Given the description of an element on the screen output the (x, y) to click on. 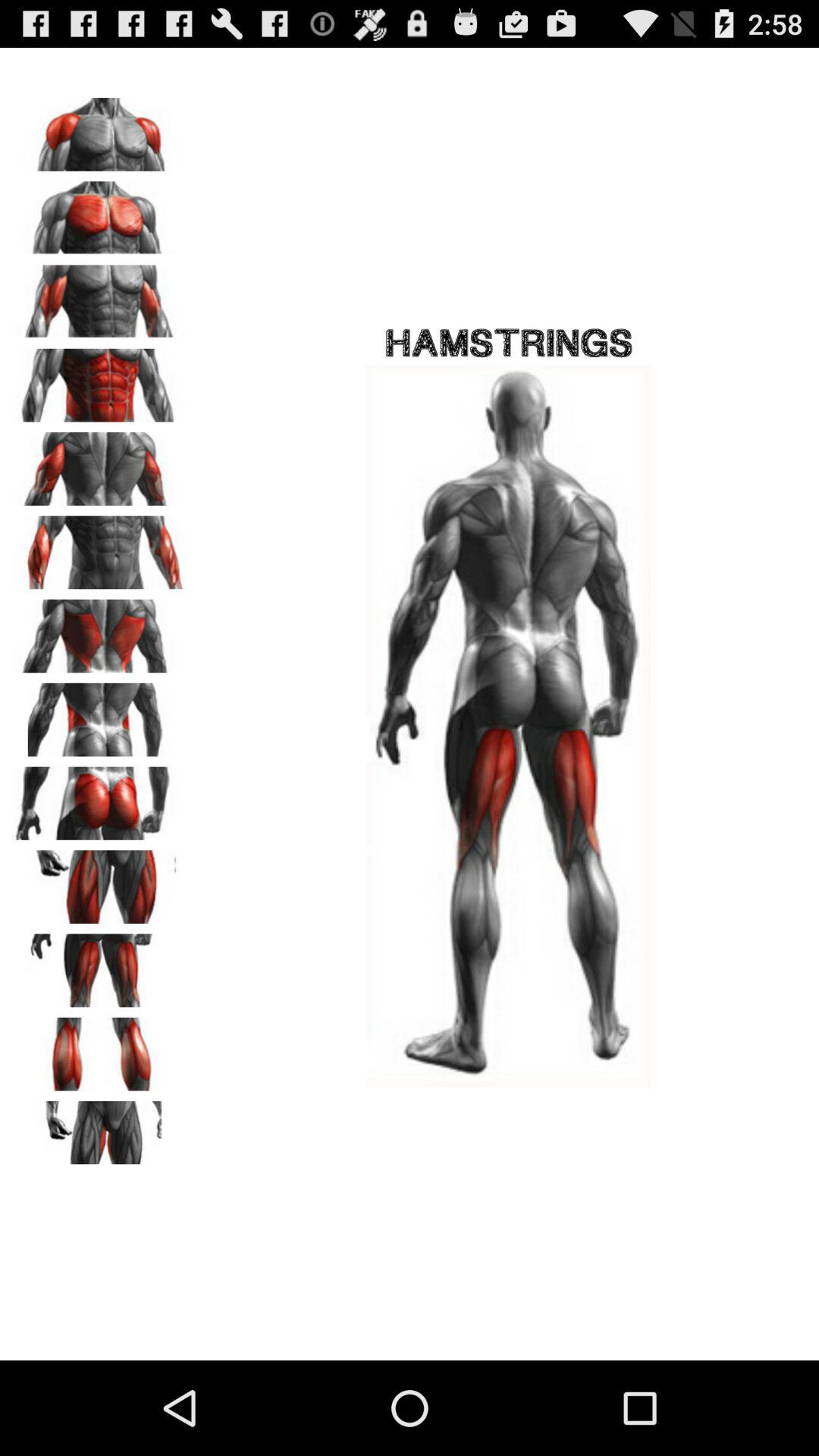
groin workout (99, 1132)
